Given the description of an element on the screen output the (x, y) to click on. 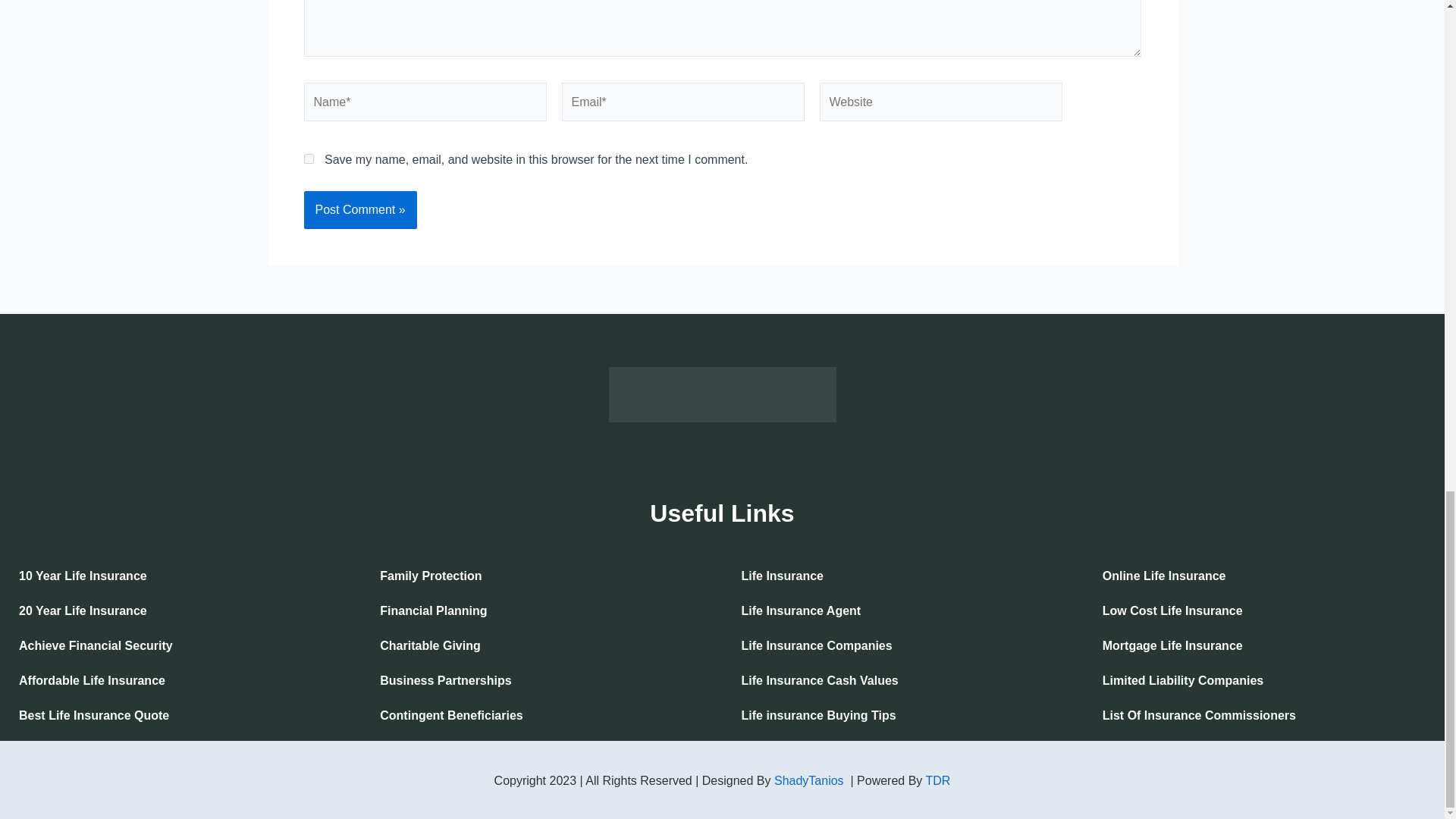
yes (307, 158)
Affordable Life Insurance (180, 680)
Business Partnerships (541, 680)
Life insurance Buying Tips (902, 715)
Family Protection (541, 575)
Charitable Giving (541, 645)
Life Insurance Cash Values (902, 680)
Financial Planning (541, 610)
Low Cost Life Insurance (1263, 610)
Best Life Insurance Quote (180, 715)
